Given the description of an element on the screen output the (x, y) to click on. 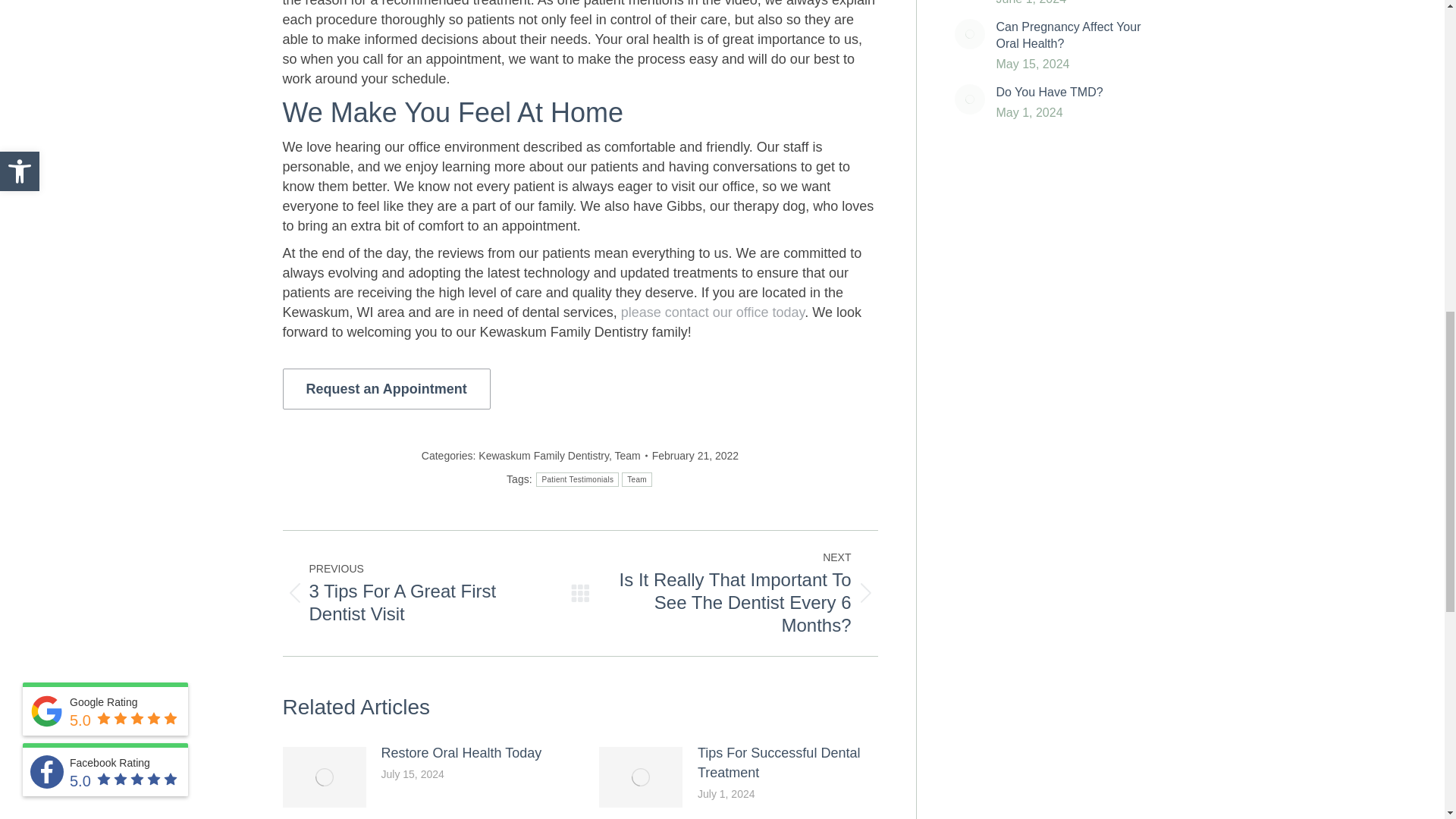
Contact Us (385, 388)
6:00 am (695, 455)
